Given the description of an element on the screen output the (x, y) to click on. 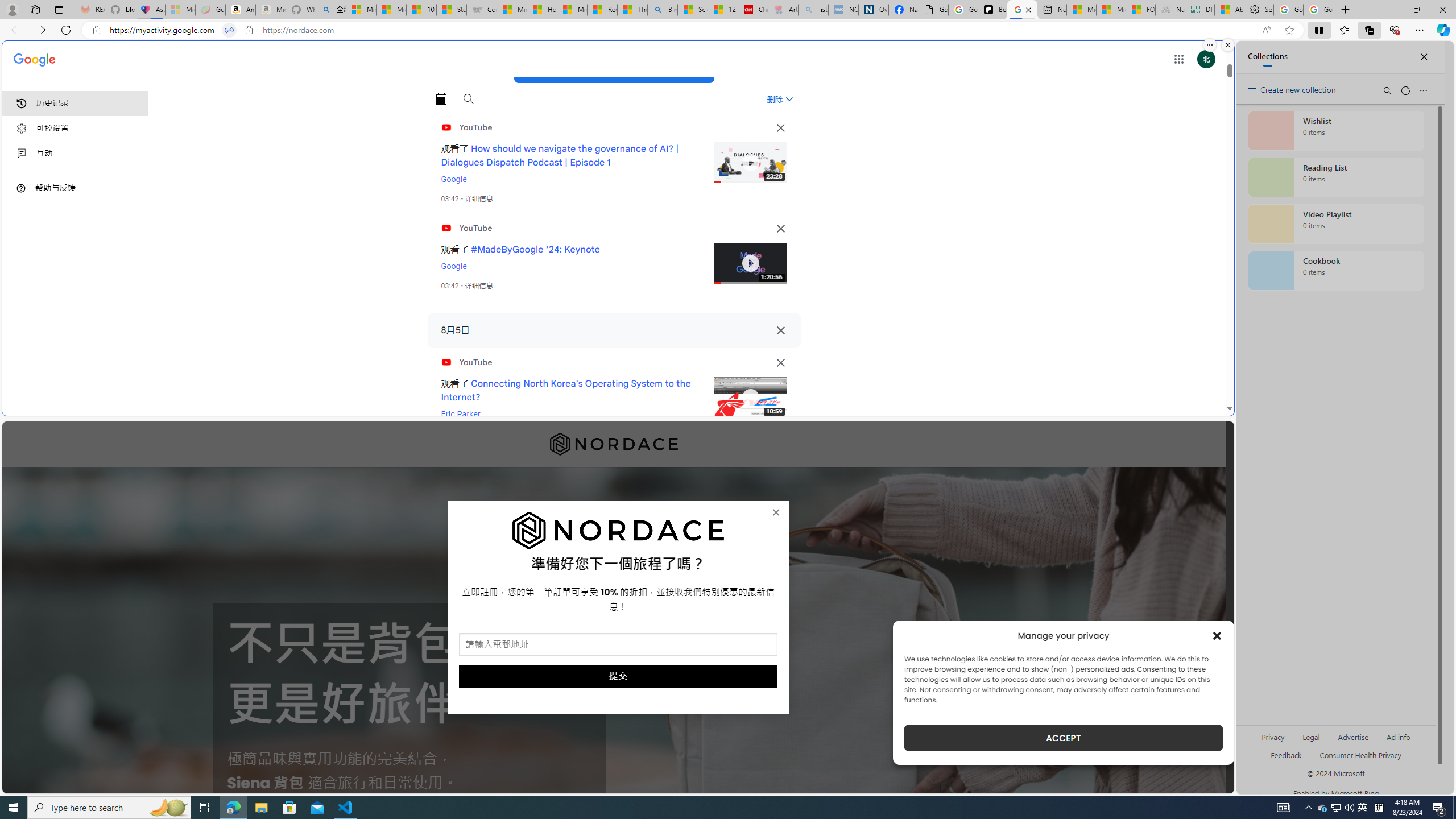
FOX News - MSN (1140, 9)
